Given the description of an element on the screen output the (x, y) to click on. 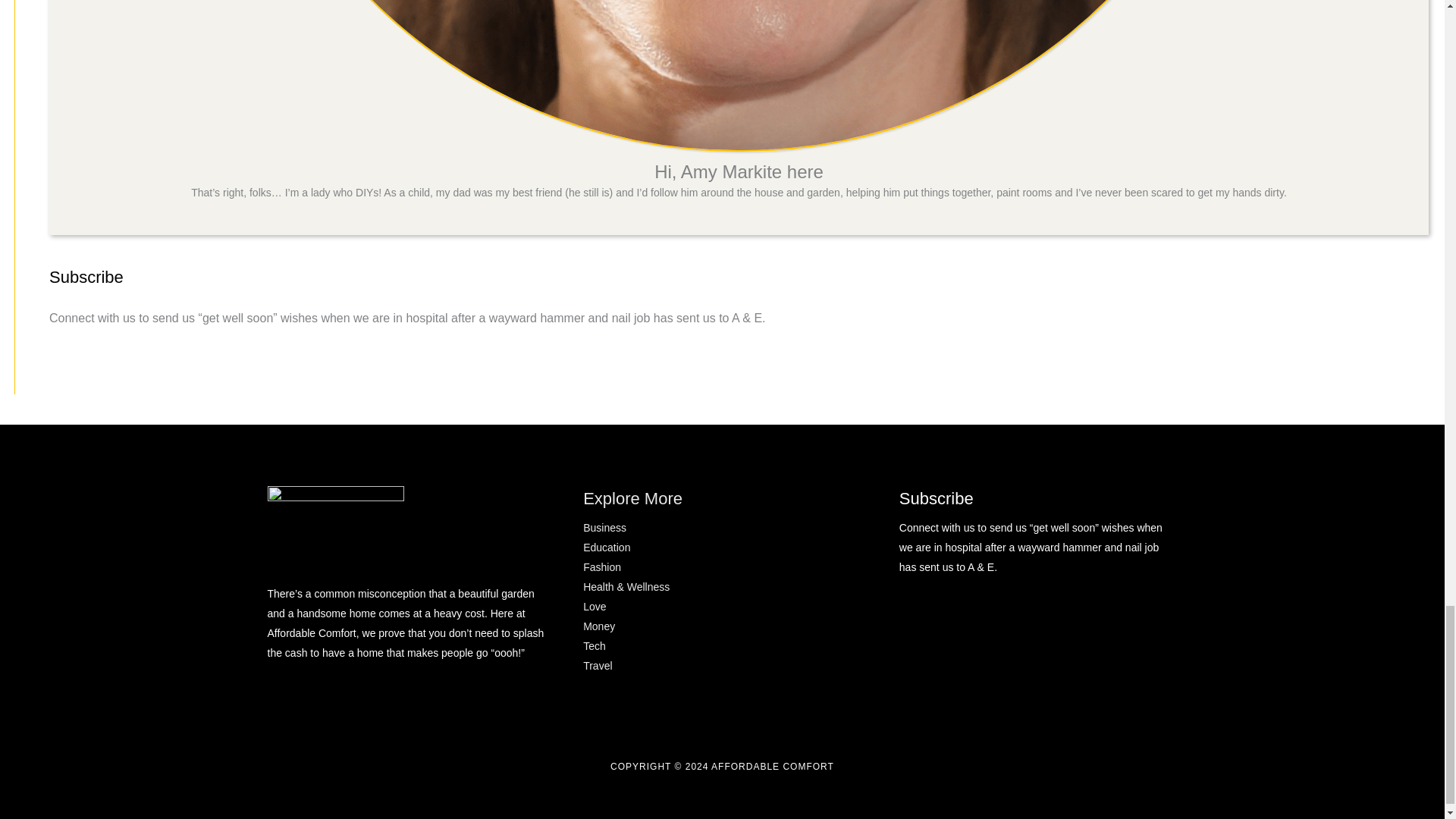
Tech (594, 645)
Love (594, 606)
Money (598, 625)
Fashion (602, 567)
Travel (597, 665)
Education (606, 547)
Business (604, 527)
